Given the description of an element on the screen output the (x, y) to click on. 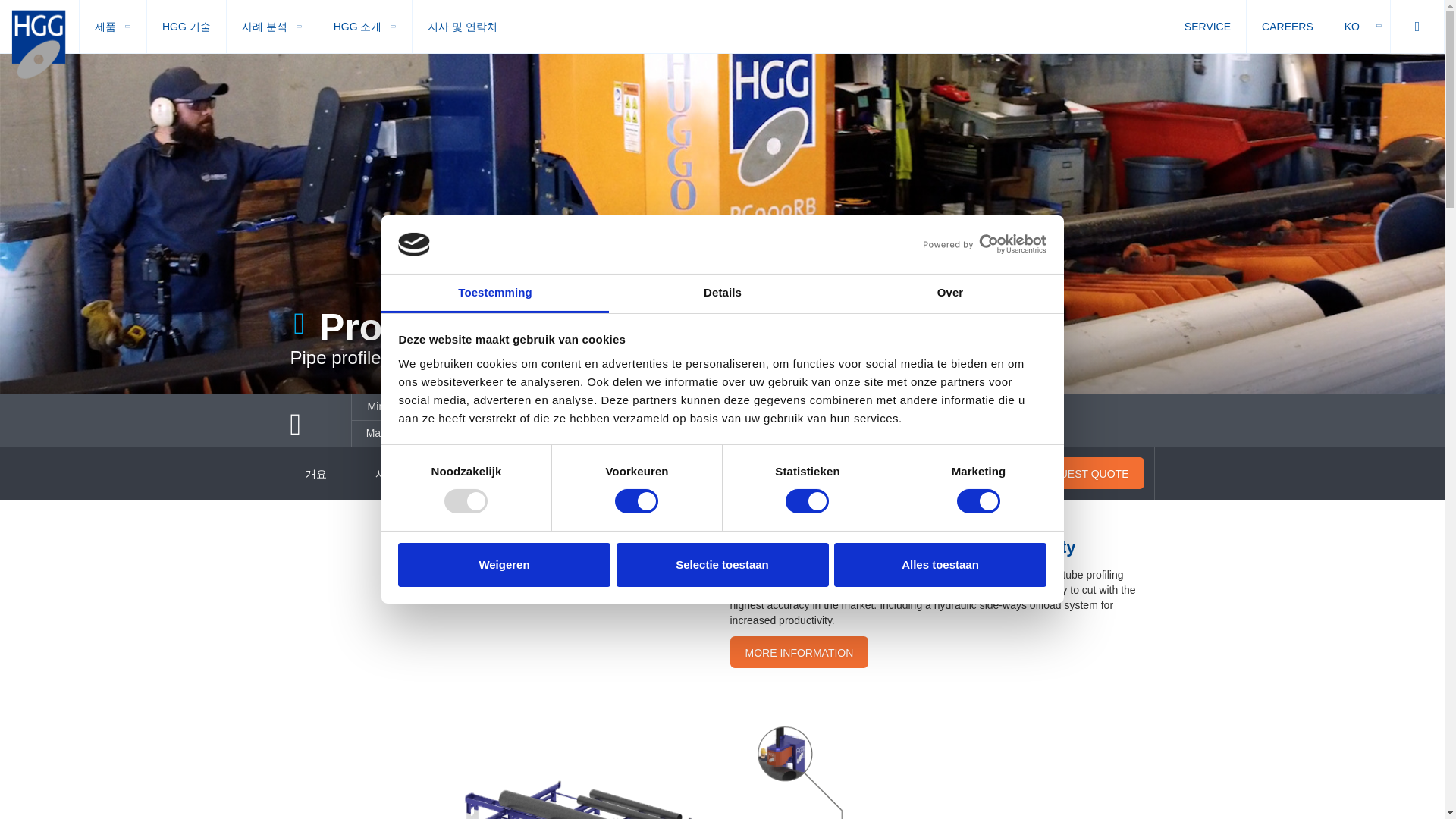
Details (721, 293)
Toestemming (494, 293)
Over (948, 293)
